Given the description of an element on the screen output the (x, y) to click on. 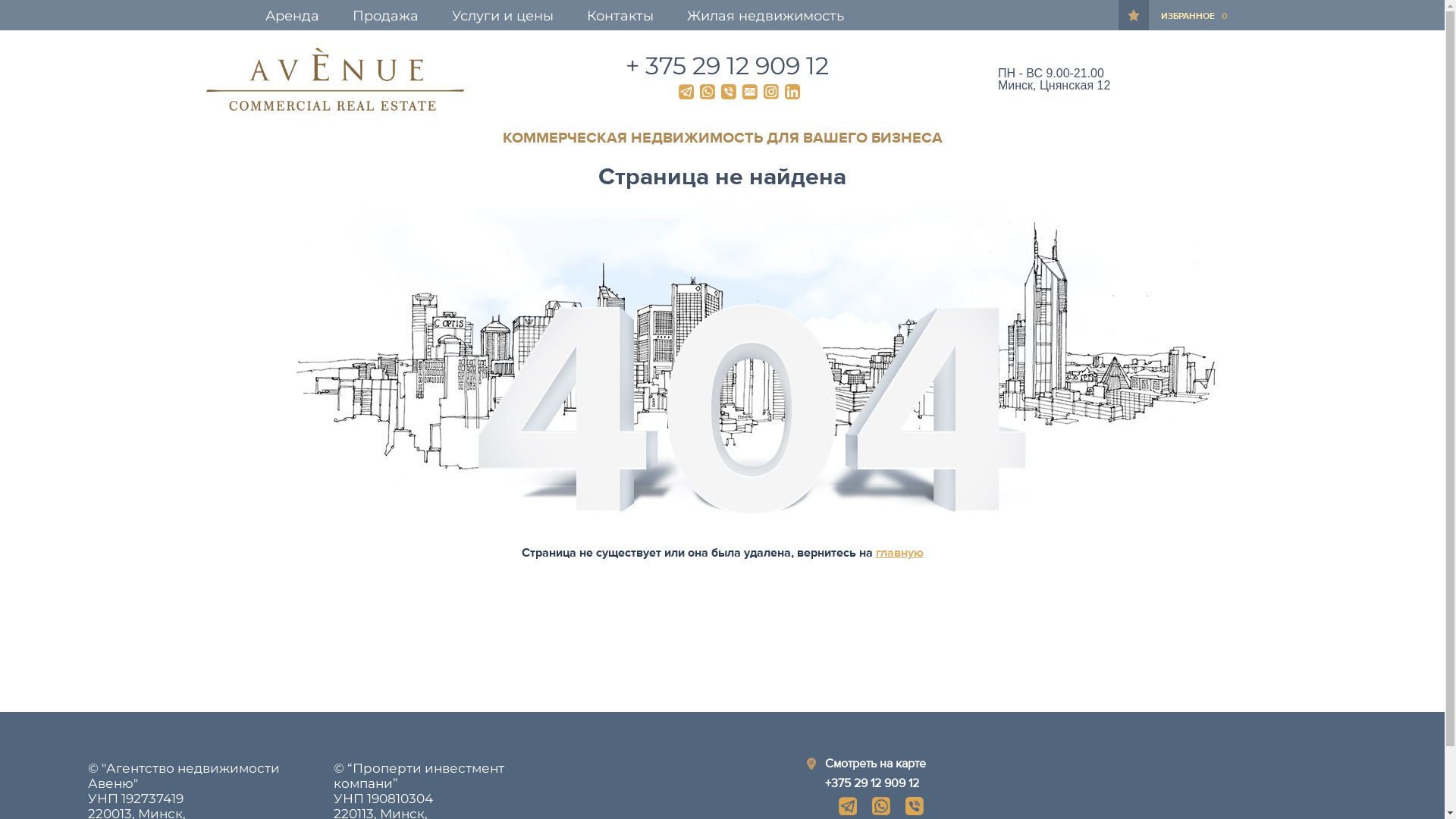
+ 375 29 12 909 12 Element type: text (726, 65)
+375 29 12 909 12 Element type: text (872, 783)
